Given the description of an element on the screen output the (x, y) to click on. 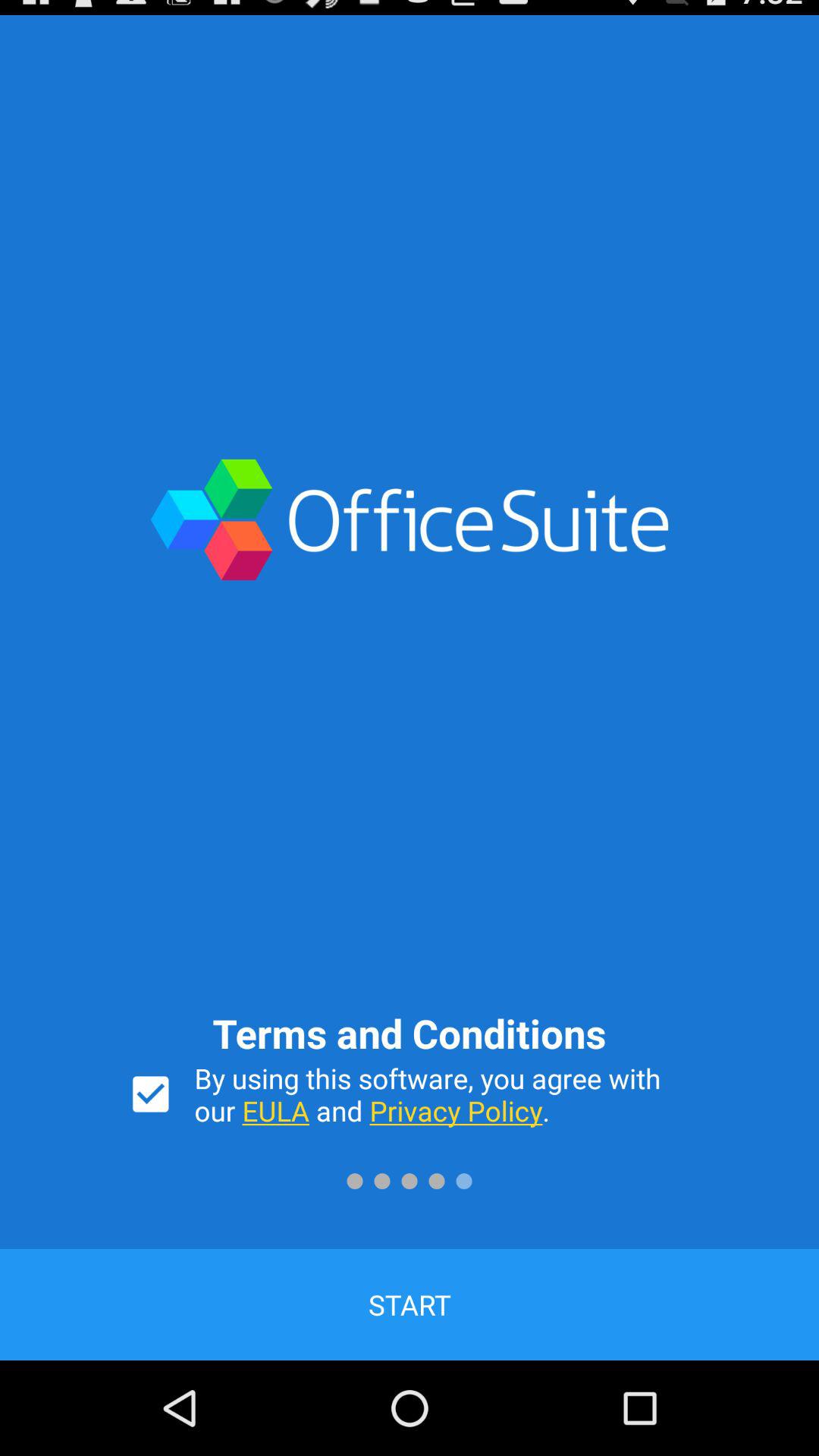
switch terms and conditions acceptance (150, 1093)
